Given the description of an element on the screen output the (x, y) to click on. 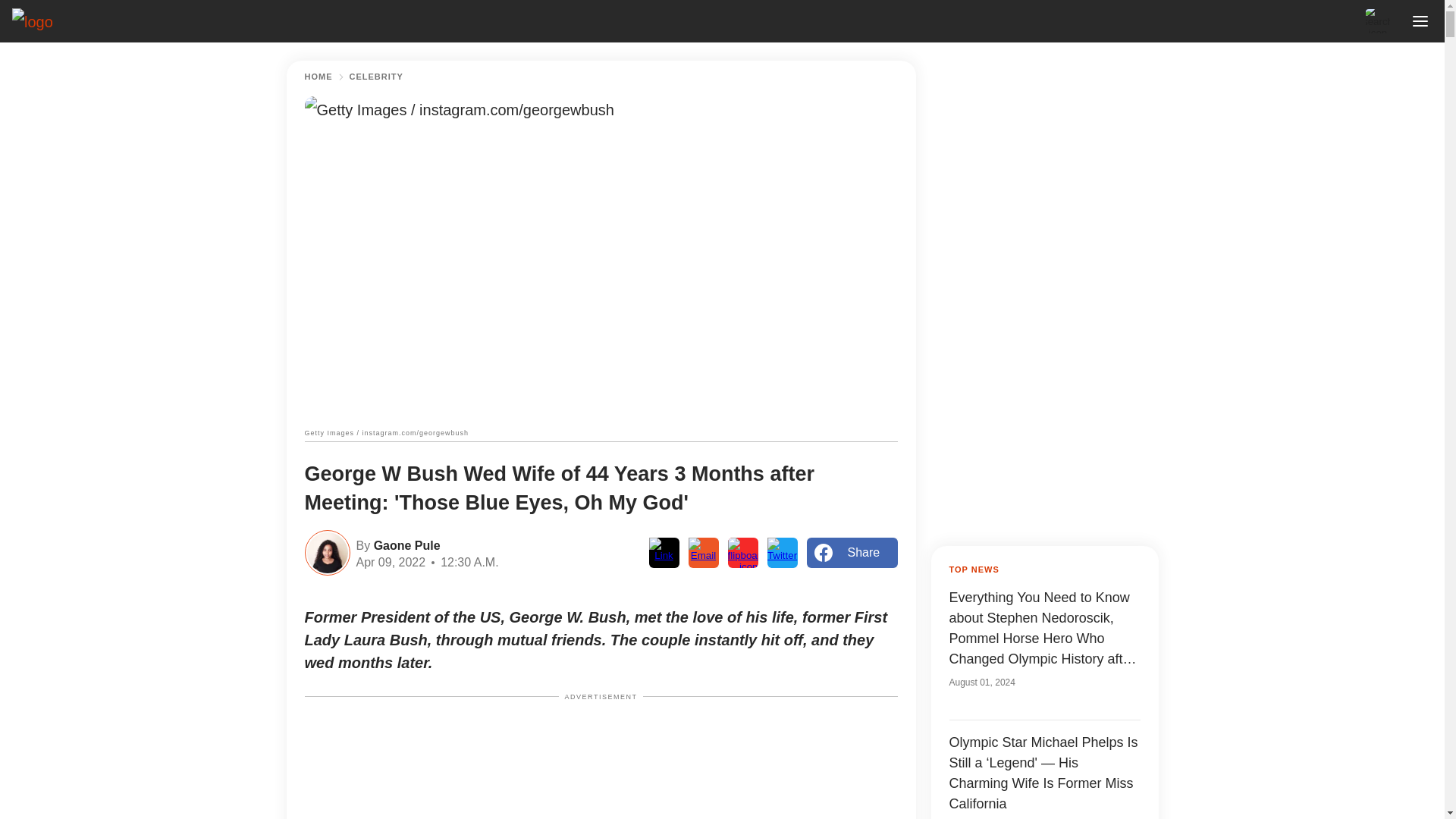
Gaone Pule (404, 544)
CELEBRITY (376, 76)
HOME (318, 76)
